Given the description of an element on the screen output the (x, y) to click on. 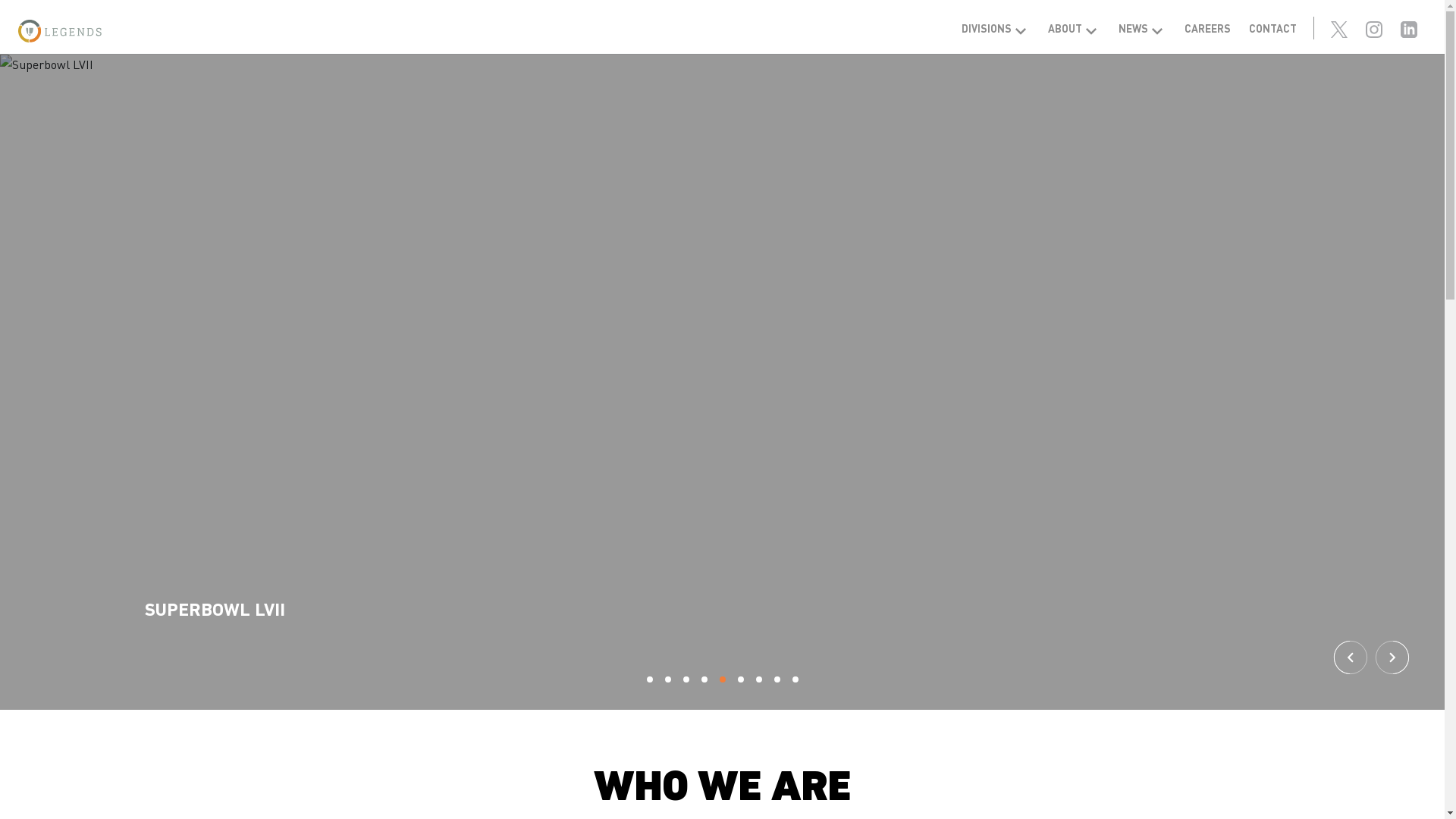
Previous Element type: text (1350, 657)
CONTACT Element type: text (1272, 27)
Next Element type: text (1391, 657)
NEWS Element type: text (1142, 27)
DIVISIONS Element type: text (995, 27)
ABOUT Element type: text (1073, 27)
CAREERS Element type: text (1207, 27)
